Given the description of an element on the screen output the (x, y) to click on. 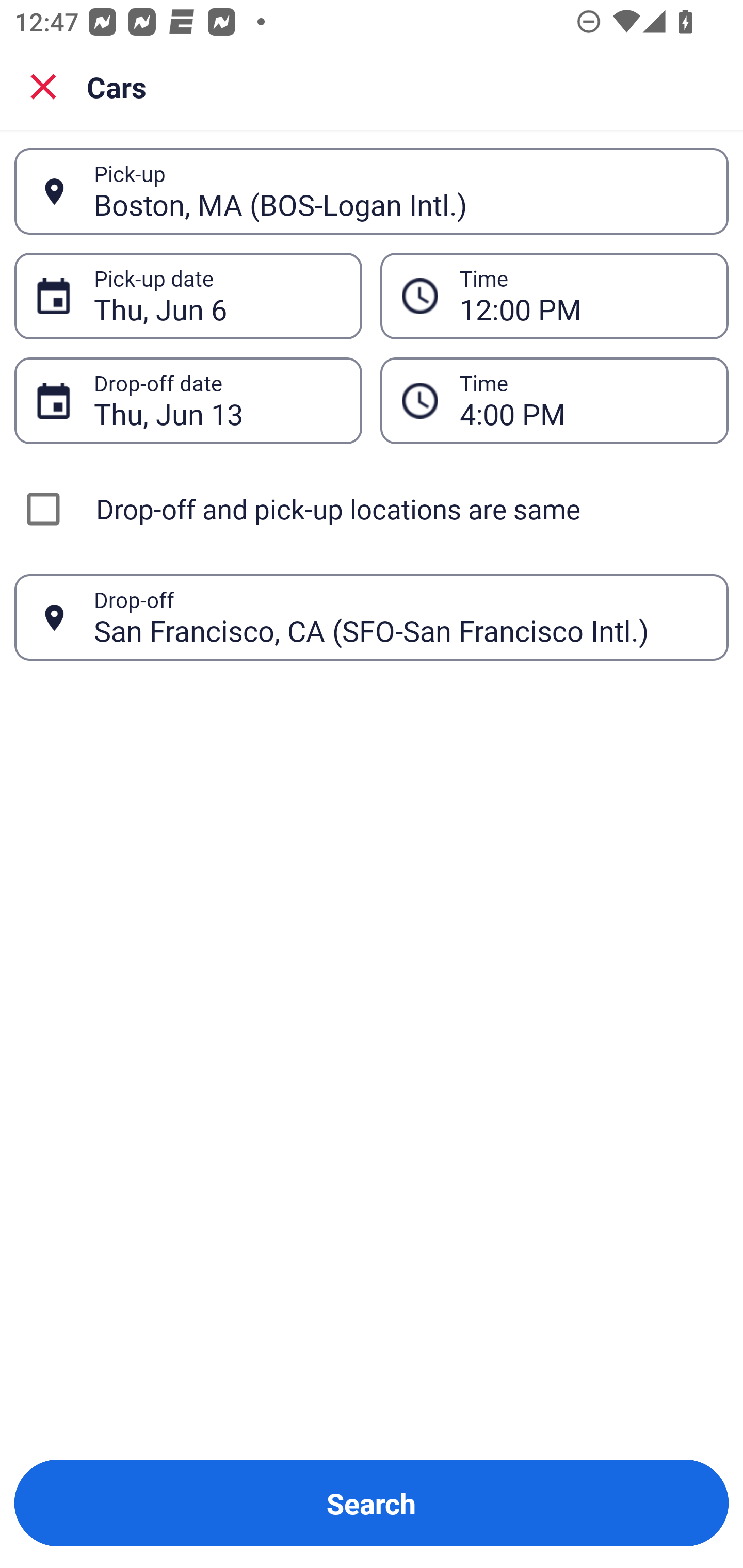
Close search screen (43, 86)
Boston, MA (BOS-Logan Intl.) Pick-up (371, 191)
Boston, MA (BOS-Logan Intl.) (399, 191)
Thu, Jun 6 Pick-up date (188, 295)
12:00 PM (554, 295)
Thu, Jun 6 (216, 296)
12:00 PM (582, 296)
Thu, Jun 13 Drop-off date (188, 400)
4:00 PM (554, 400)
Thu, Jun 13 (216, 400)
4:00 PM (582, 400)
Drop-off and pick-up locations are same (371, 508)
San Francisco, CA (SFO-San Francisco Intl.) (399, 616)
Search Button Search (371, 1502)
